Given the description of an element on the screen output the (x, y) to click on. 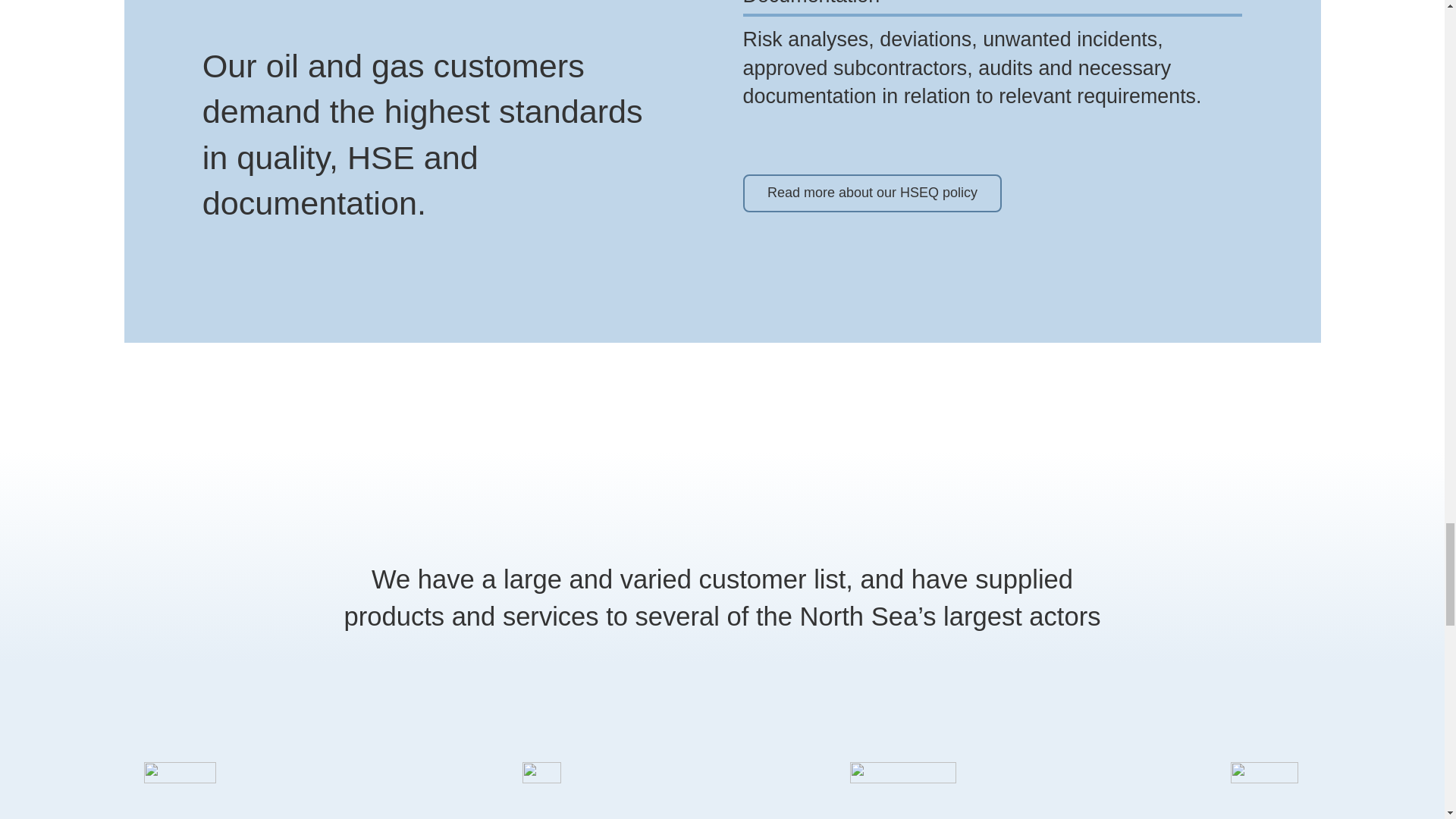
Read more about our HSEQ policy (872, 193)
